Given the description of an element on the screen output the (x, y) to click on. 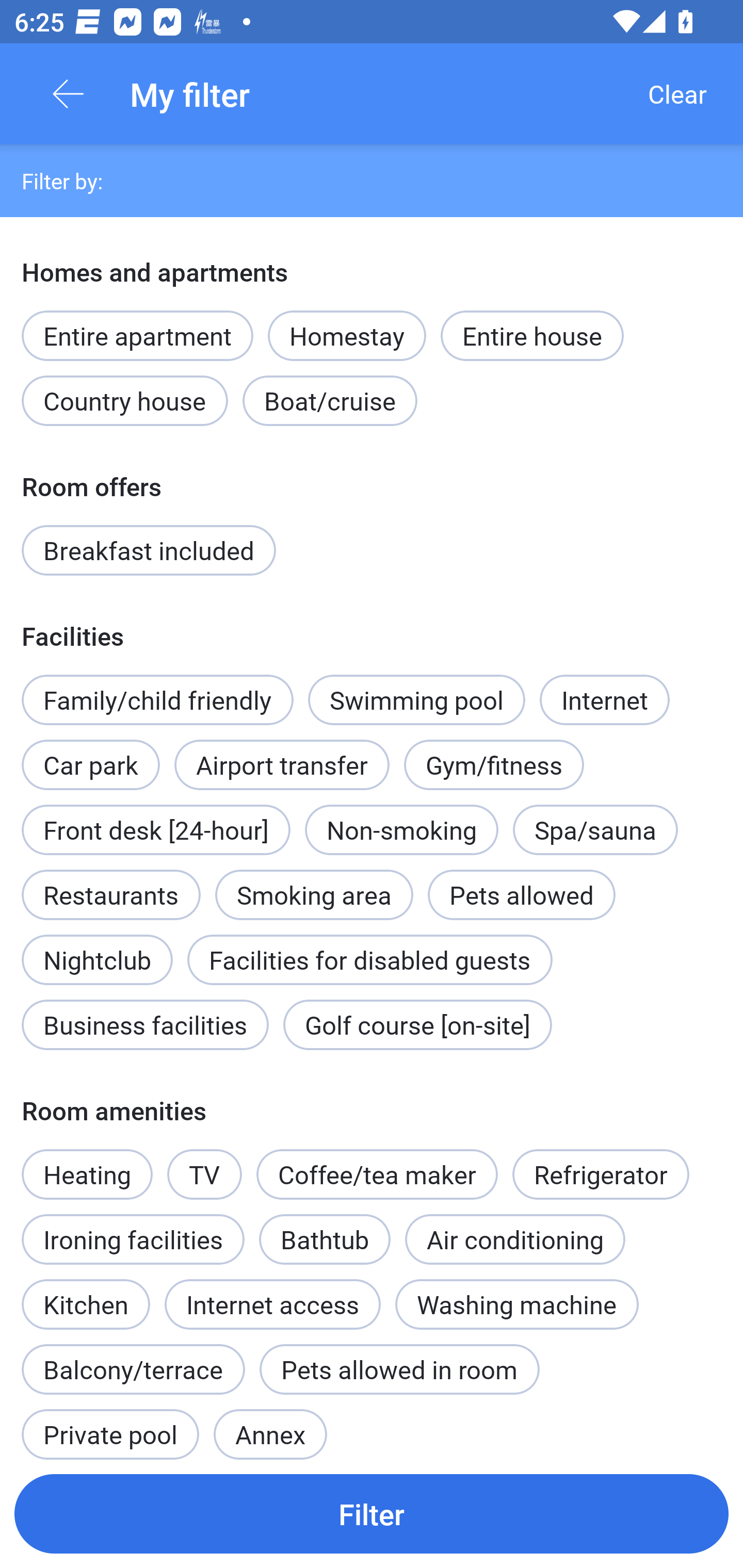
Clear (676, 93)
Entire apartment (137, 336)
Homestay (346, 336)
Entire house (532, 336)
Country house (124, 400)
Boat/cruise (329, 400)
Breakfast included (148, 550)
Family/child friendly (157, 699)
Swimming pool (416, 699)
Internet (604, 699)
Car park (90, 754)
Airport transfer (281, 764)
Gym/fitness (493, 764)
Front desk [24-hour] (155, 830)
Non-smoking (401, 830)
Spa/sauna (594, 830)
Restaurants (110, 894)
Smoking area (314, 884)
Pets allowed (521, 894)
Nightclub (97, 949)
Facilities for disabled guests (369, 960)
Business facilities (144, 1024)
Golf course [on-site] (417, 1024)
Heating (87, 1163)
TV (204, 1174)
Coffee/tea maker (376, 1174)
Refrigerator (600, 1174)
Ironing facilities (132, 1239)
Bathtub (324, 1239)
Air conditioning (514, 1228)
Kitchen (85, 1293)
Internet access (272, 1304)
Washing machine (516, 1304)
Balcony/terrace (133, 1369)
Pets allowed in room (399, 1369)
Private pool (110, 1424)
Annex (269, 1424)
Filter (371, 1513)
